Given the description of an element on the screen output the (x, y) to click on. 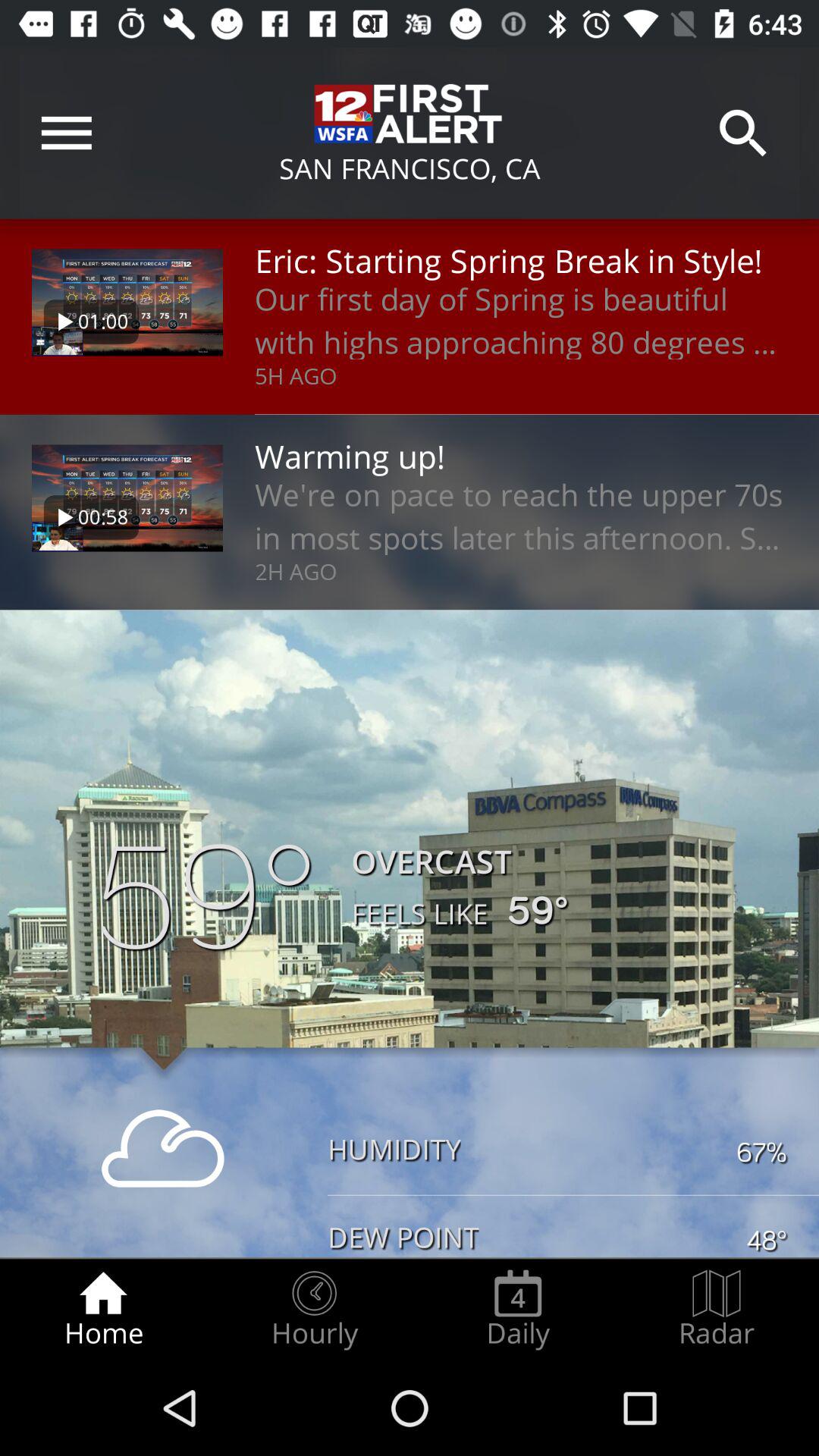
turn off home icon (103, 1309)
